Given the description of an element on the screen output the (x, y) to click on. 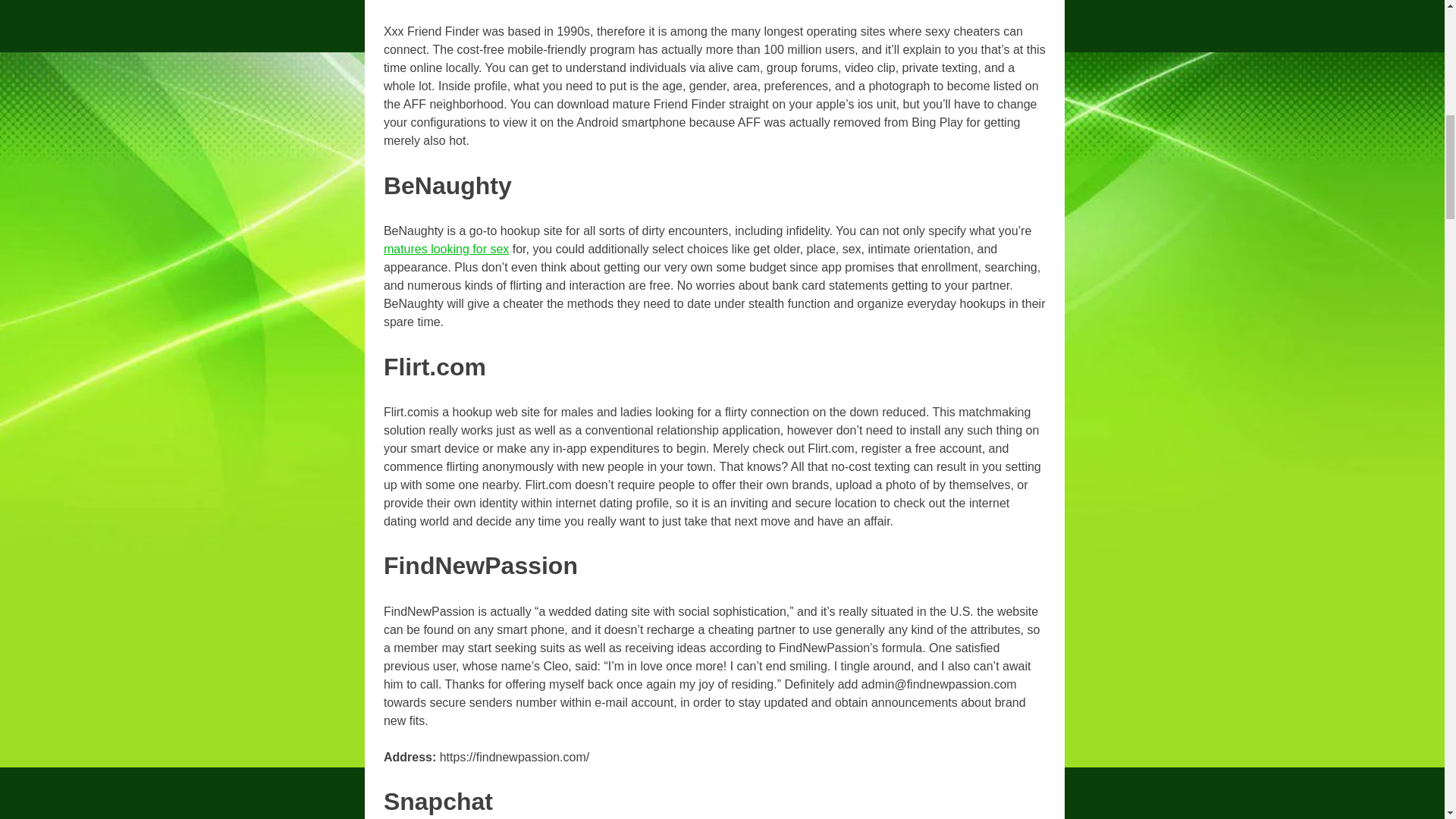
matures looking for sex (446, 248)
